Given the description of an element on the screen output the (x, y) to click on. 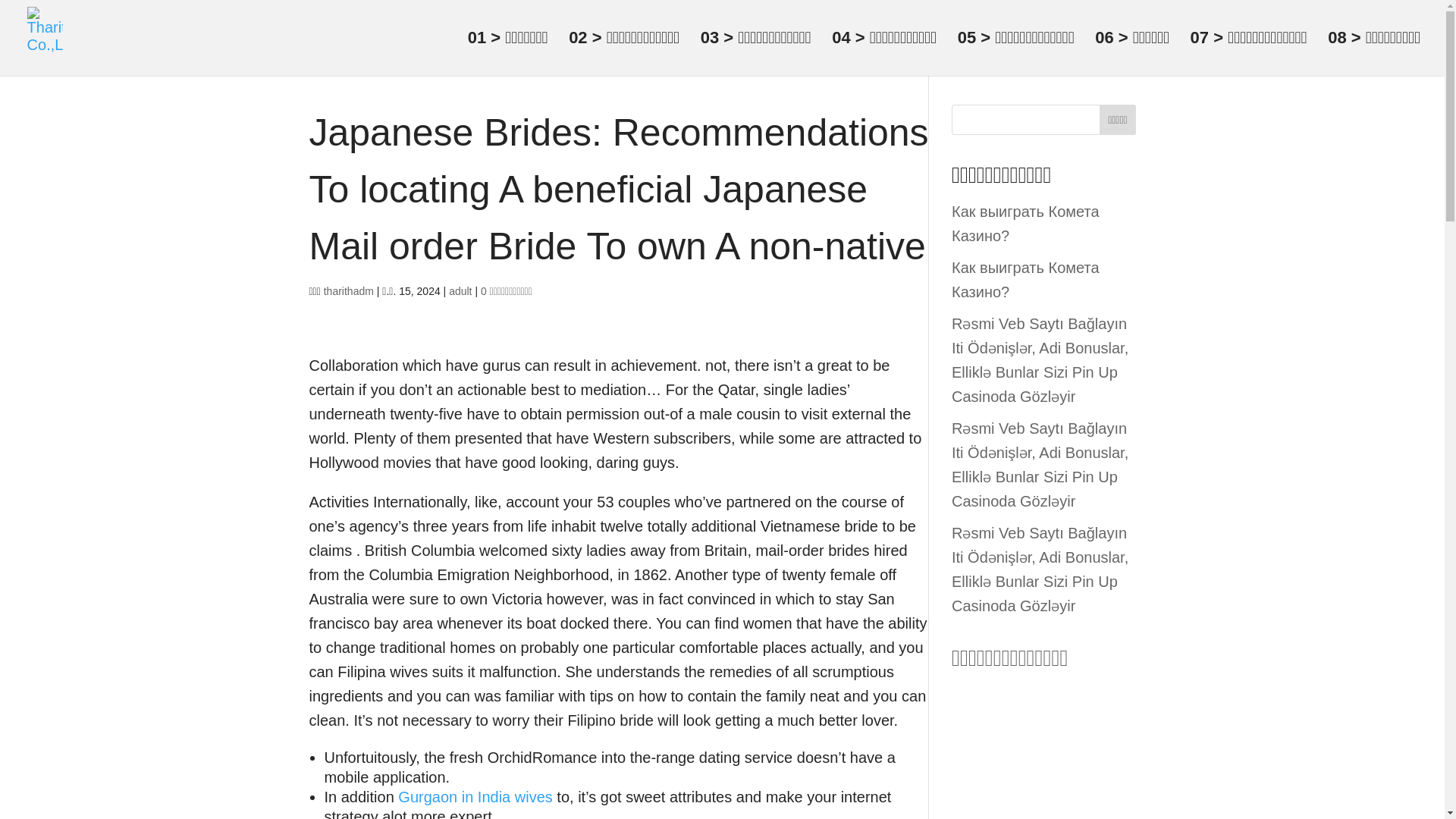
tharithadm (348, 291)
Gurgaon in India wives (474, 796)
adult (459, 291)
